Given the description of an element on the screen output the (x, y) to click on. 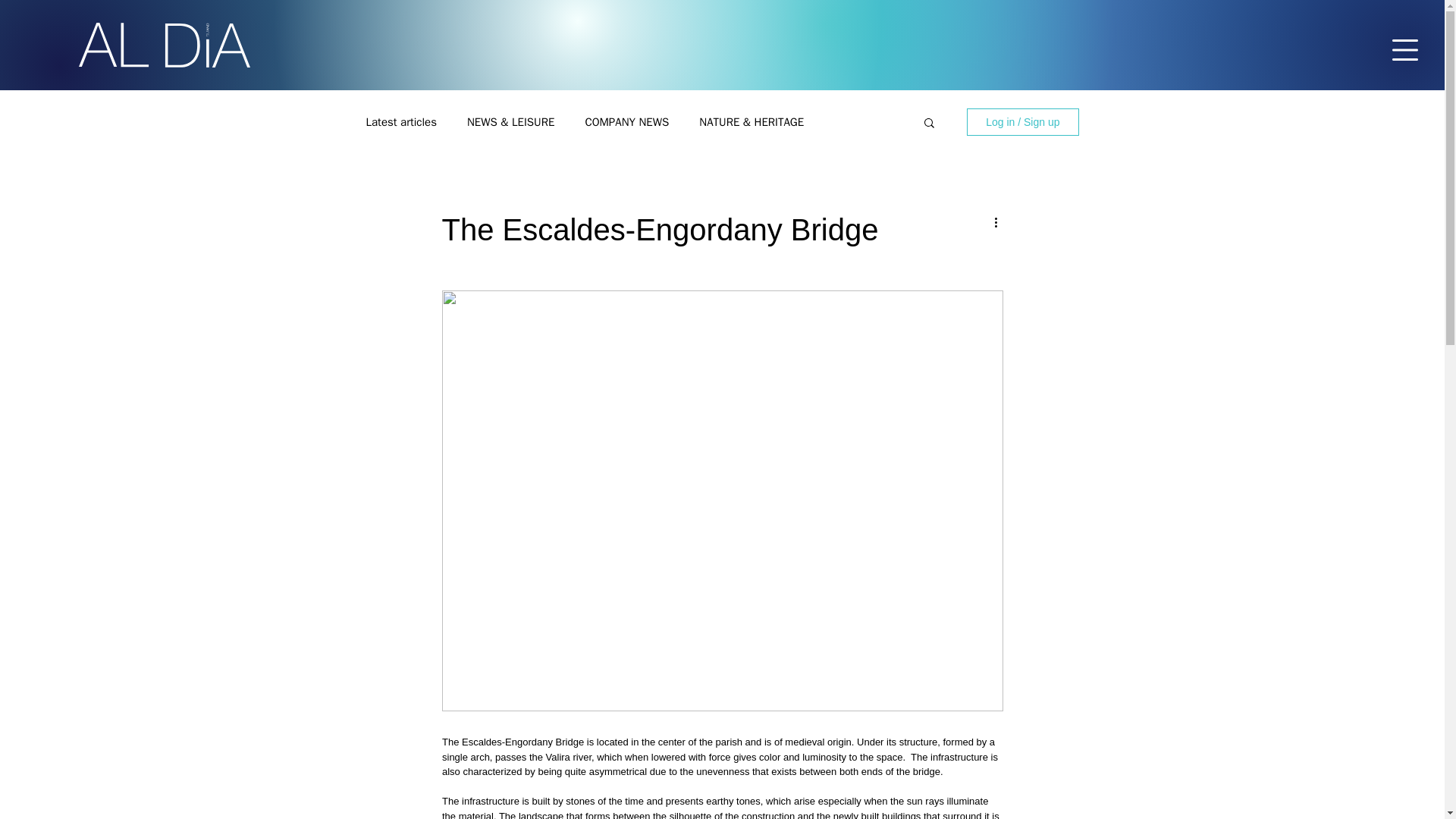
Latest articles (400, 122)
COMPANY NEWS (626, 122)
